Given the description of an element on the screen output the (x, y) to click on. 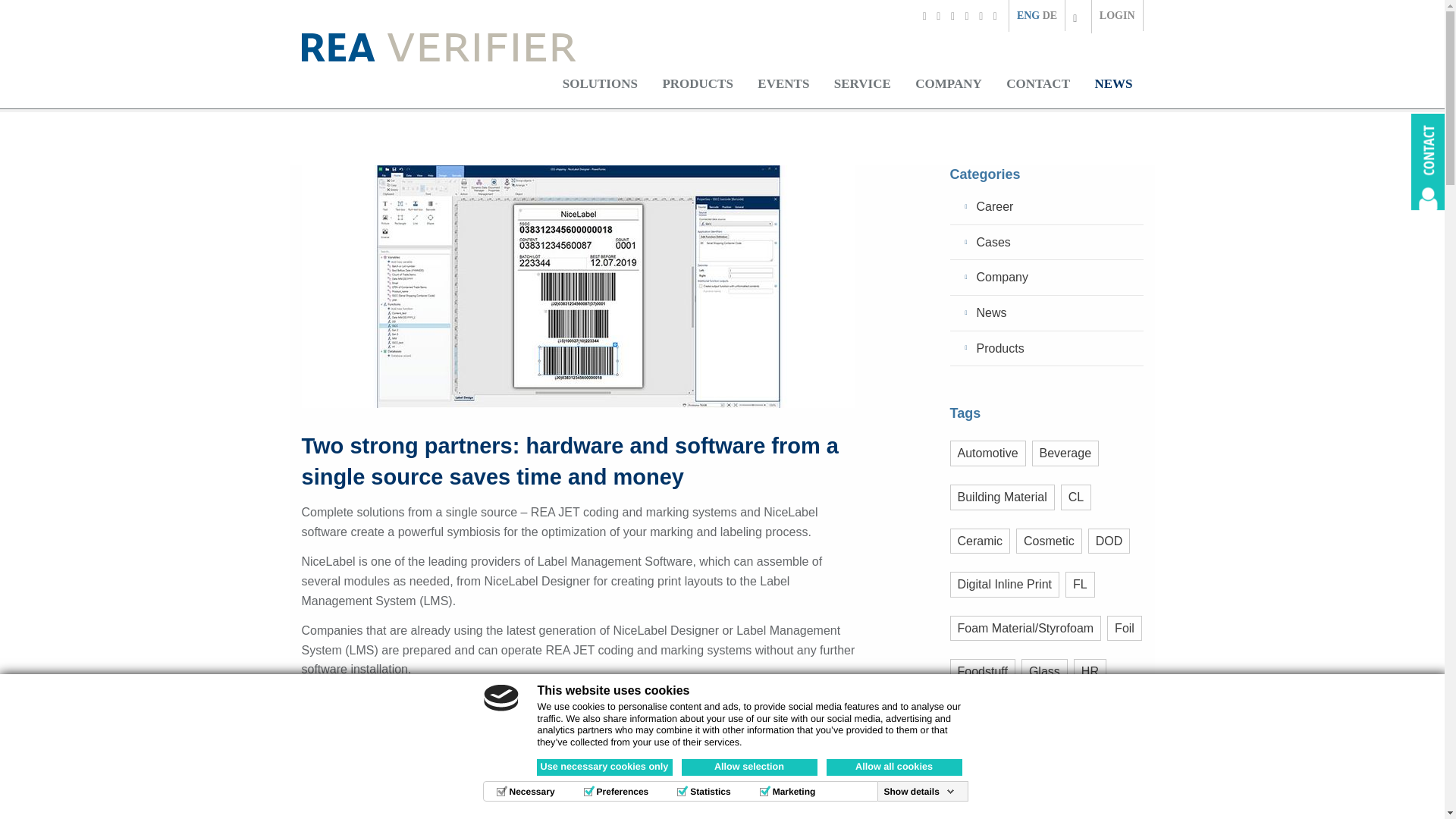
Allow all cookies (894, 767)
Use necessary cookies only (604, 767)
Allow selection (748, 767)
Show details (919, 791)
